Given the description of an element on the screen output the (x, y) to click on. 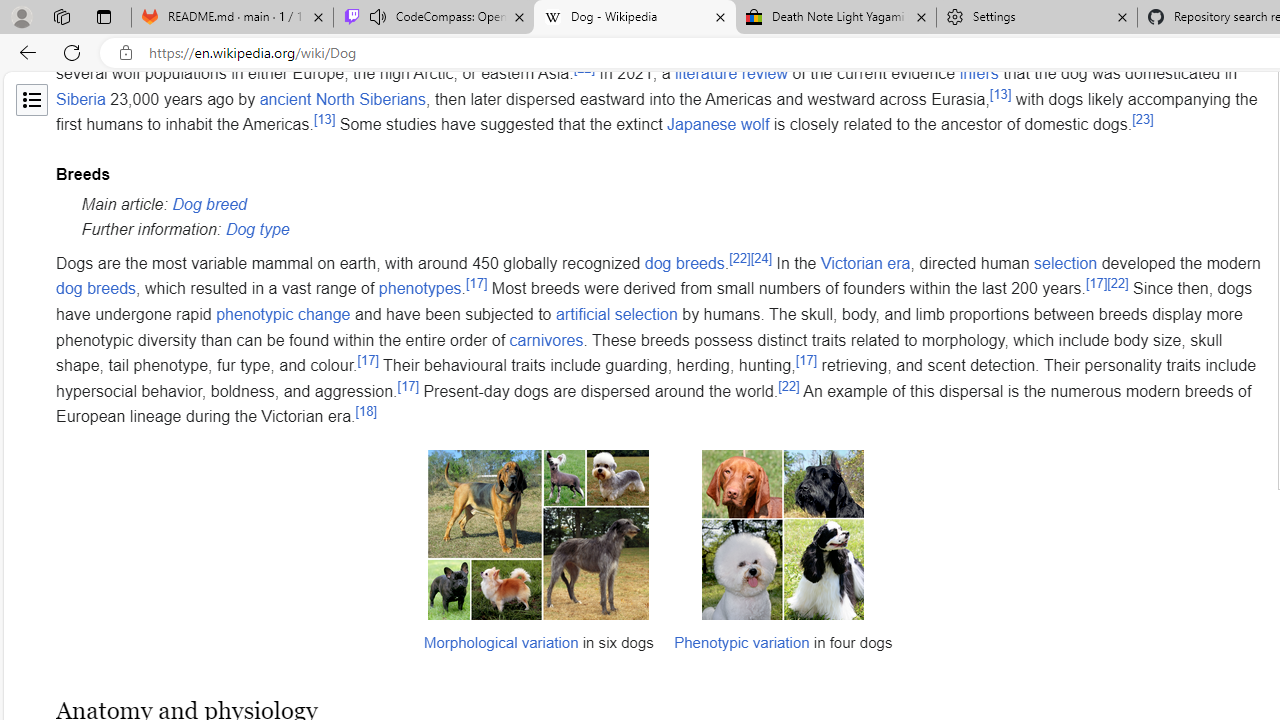
phenotypes (419, 289)
artificial selection (616, 314)
literature review (731, 73)
[24] (761, 257)
[13] (324, 120)
Victorian era (865, 263)
infers (978, 73)
selection (1066, 263)
Phenotypic variation (742, 641)
Phenotypic variation in four dogs (783, 559)
Dog - Wikipedia (634, 17)
Siberia (81, 99)
